Given the description of an element on the screen output the (x, y) to click on. 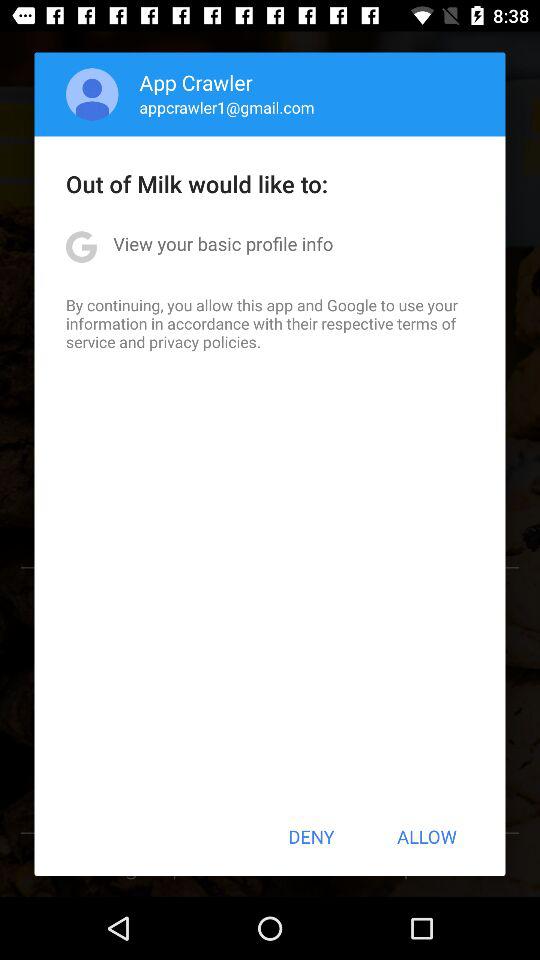
click icon next to app crawler app (92, 94)
